Given the description of an element on the screen output the (x, y) to click on. 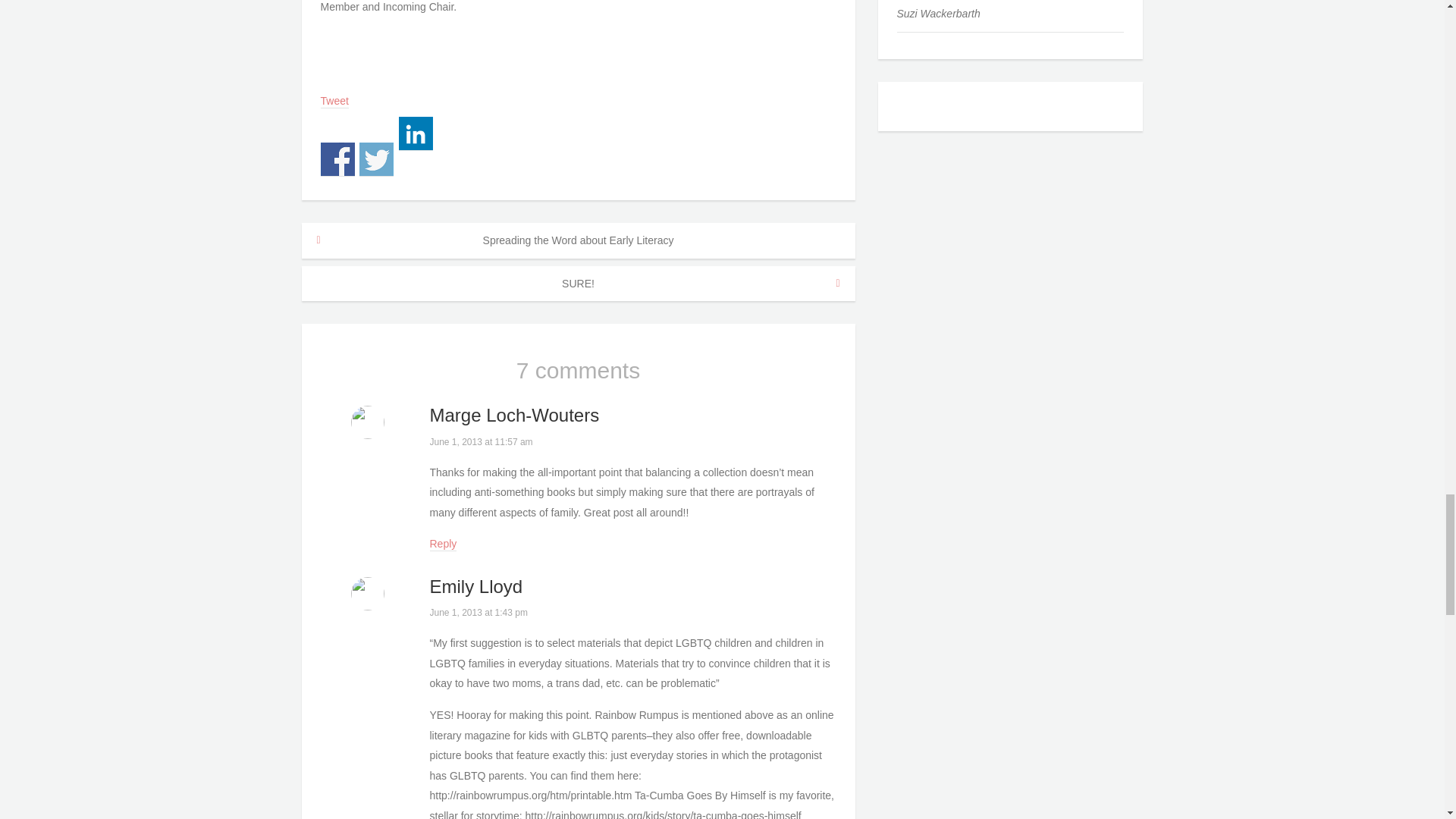
SURE! (578, 284)
June 1, 2013 at 11:57 am (480, 441)
Share on Twitter (376, 159)
Marge Loch-Wouters (513, 414)
Share on Linkedin (415, 133)
Emily Lloyd (475, 586)
Tweet (333, 101)
Share on Facebook (336, 159)
Spreading the Word about Early Literacy (578, 240)
Reply (443, 544)
